Given the description of an element on the screen output the (x, y) to click on. 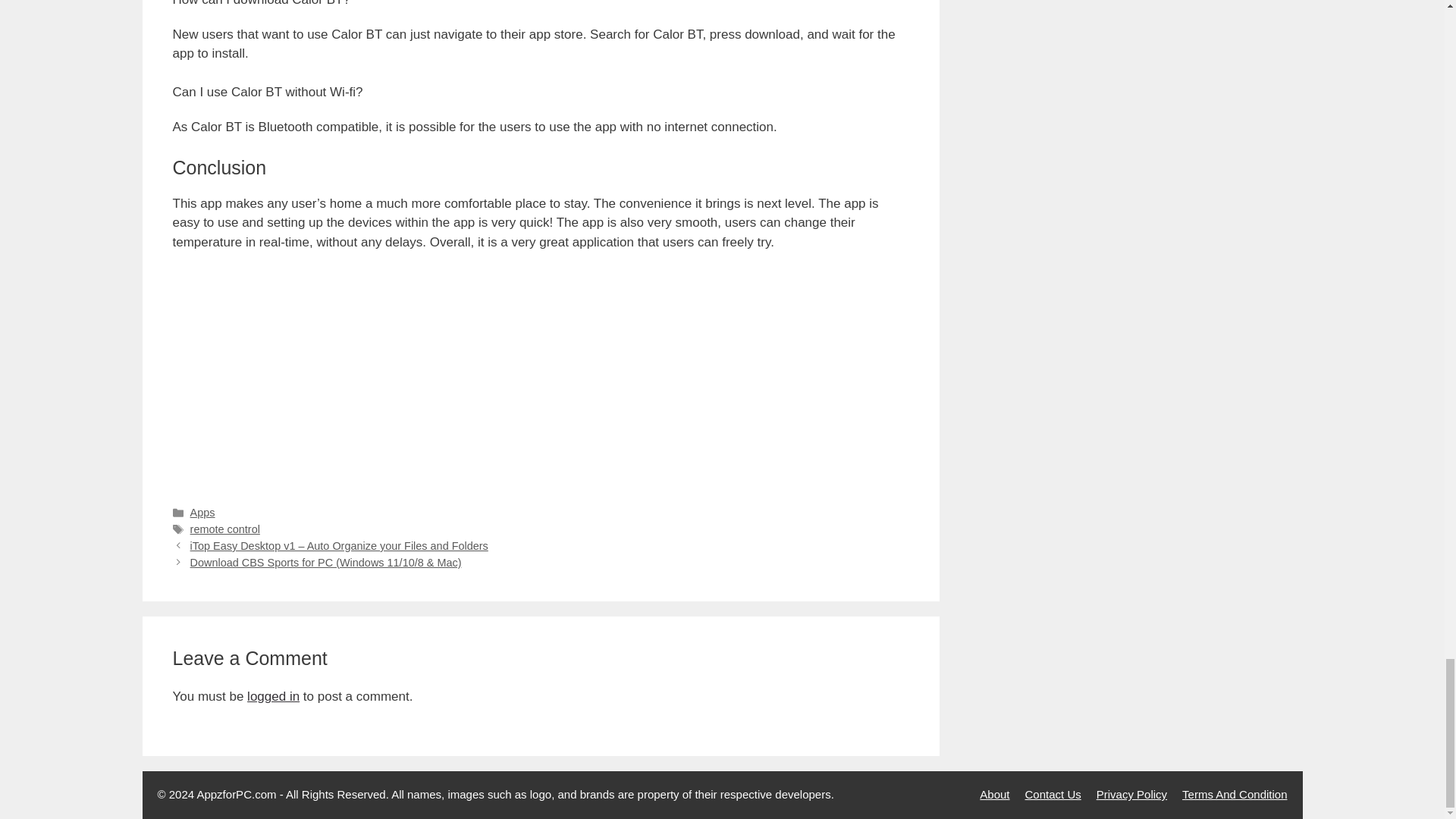
Contact Us (1053, 793)
Apps (202, 512)
logged in (273, 696)
remote control (225, 529)
About (994, 793)
Privacy Policy (1131, 793)
